Given the description of an element on the screen output the (x, y) to click on. 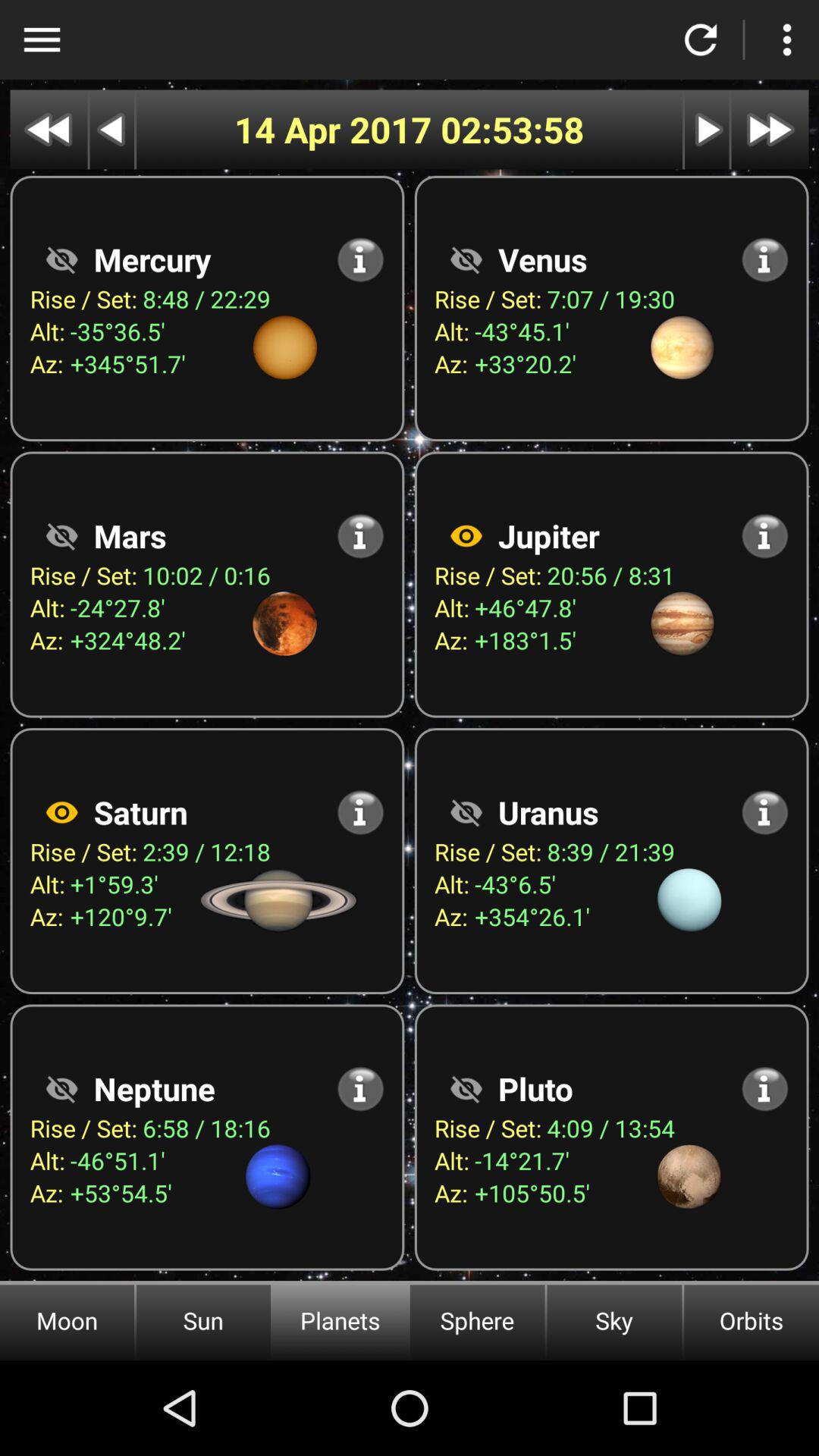
skip to next (769, 129)
